Given the description of an element on the screen output the (x, y) to click on. 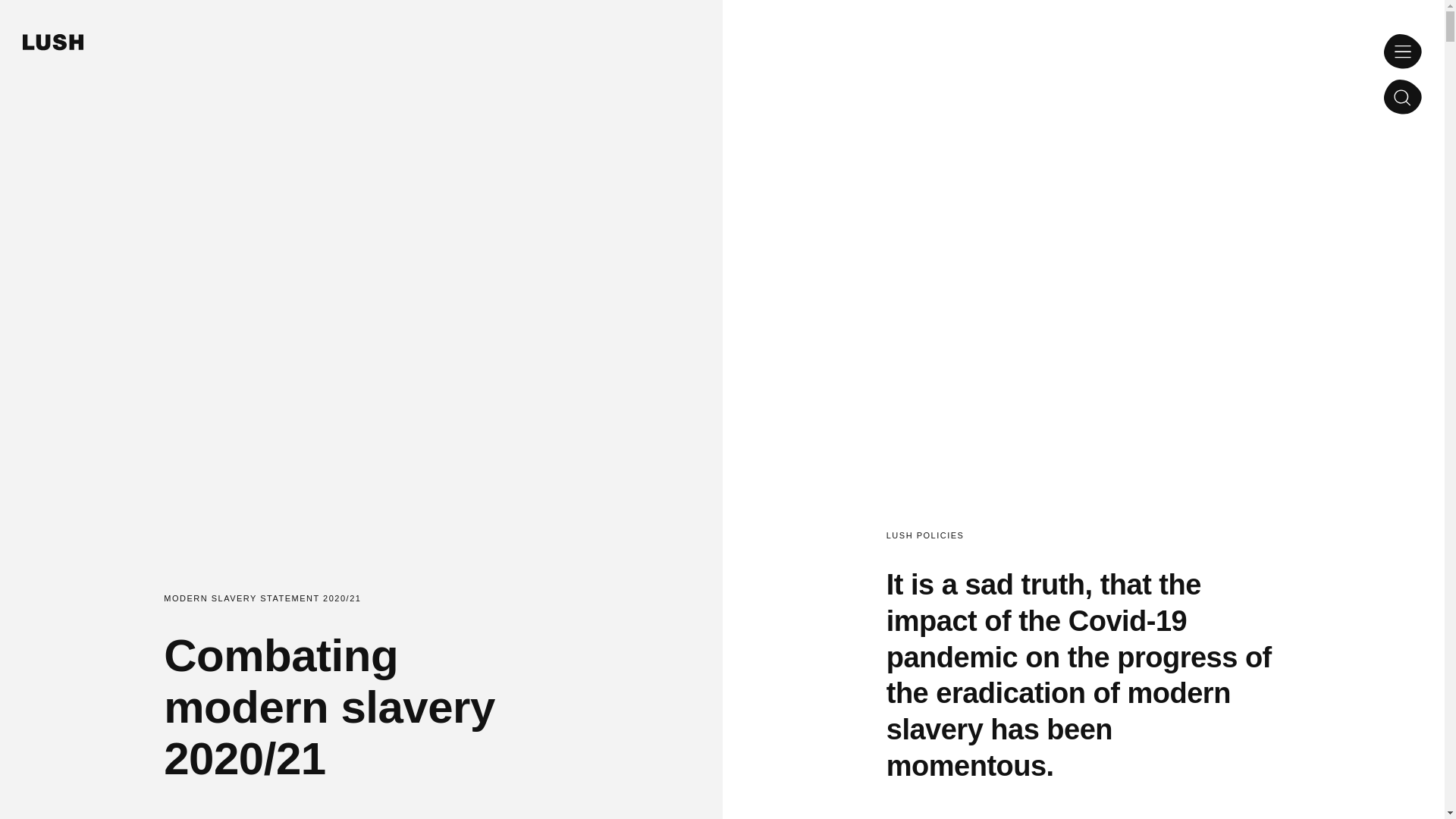
We Are Lush Homepage (52, 46)
Search (1403, 99)
Open menu (1403, 51)
